Given the description of an element on the screen output the (x, y) to click on. 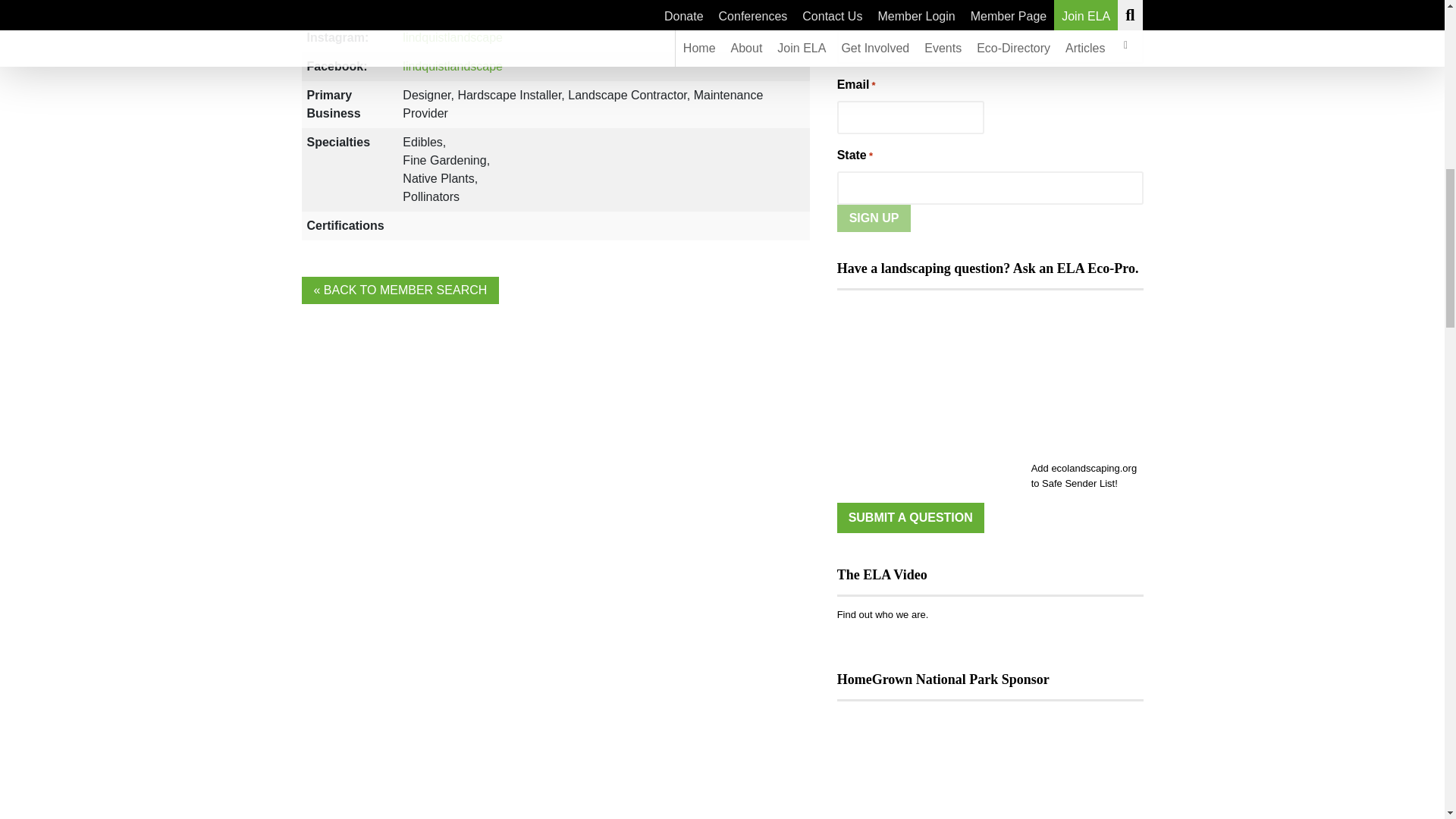
Sign up (874, 217)
